Given the description of an element on the screen output the (x, y) to click on. 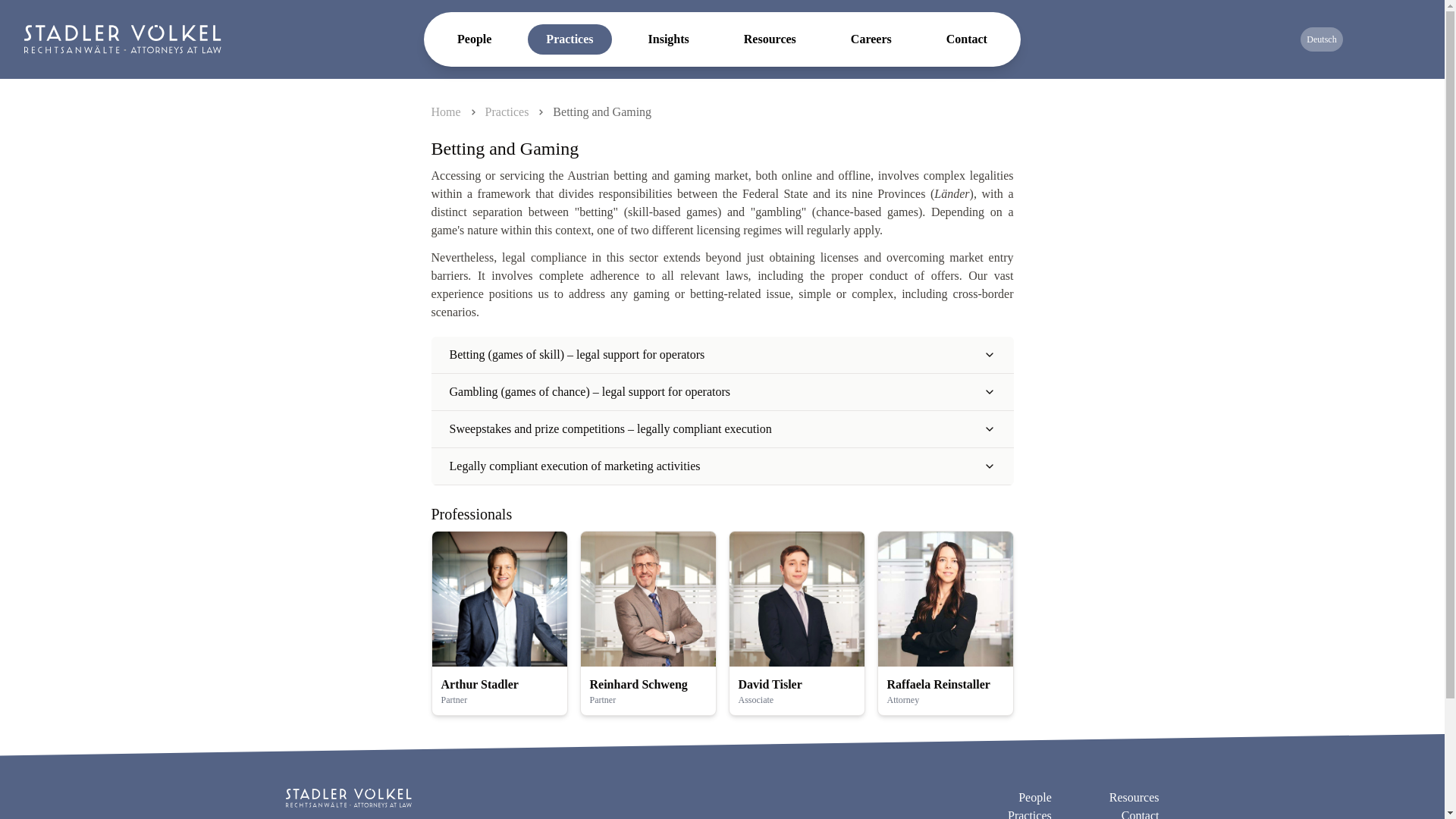
Contact (1139, 812)
Careers (871, 39)
Resources (1133, 797)
Legally compliant execution of marketing activities (721, 465)
Contact (967, 39)
People (1034, 797)
People (474, 39)
Insights (668, 39)
Practices (1029, 812)
Resources (769, 39)
Practices (569, 39)
Practices (506, 111)
Deutsch (1321, 39)
Home (445, 111)
